Given the description of an element on the screen output the (x, y) to click on. 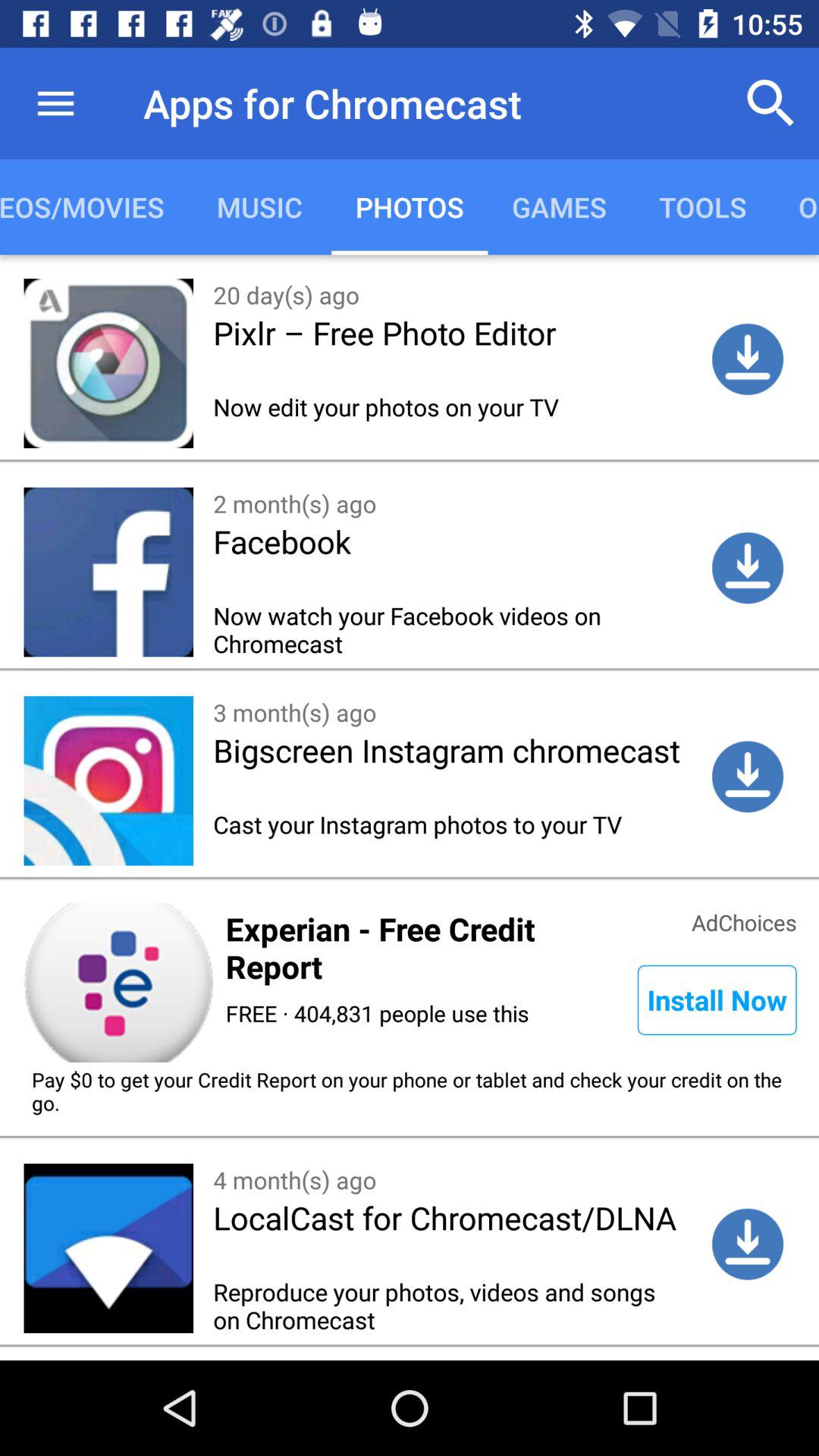
select item below the cast your instagram item (743, 921)
